Given the description of an element on the screen output the (x, y) to click on. 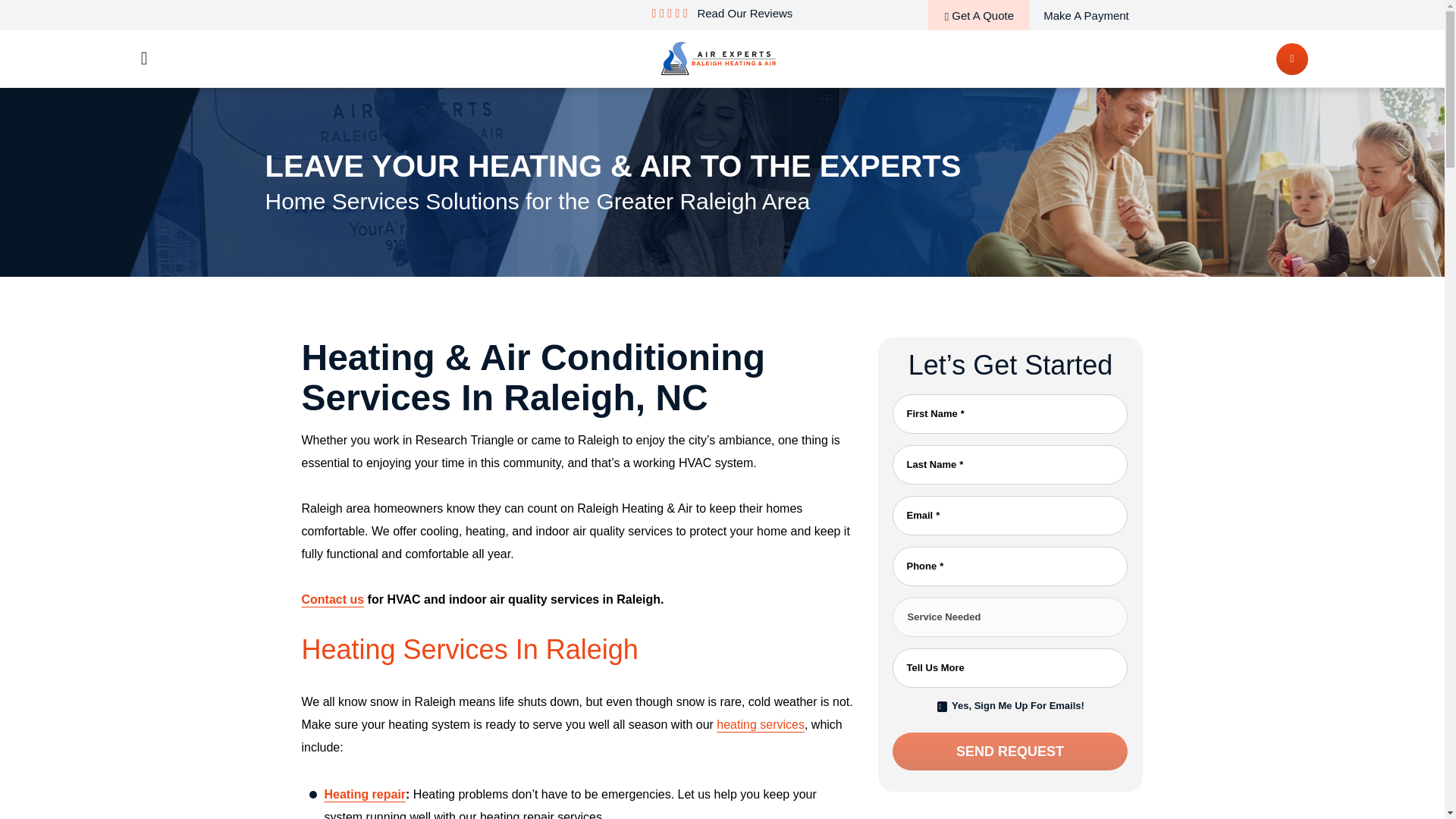
Read Our Reviews (741, 12)
  Read Our Reviews (741, 12)
